Given the description of an element on the screen output the (x, y) to click on. 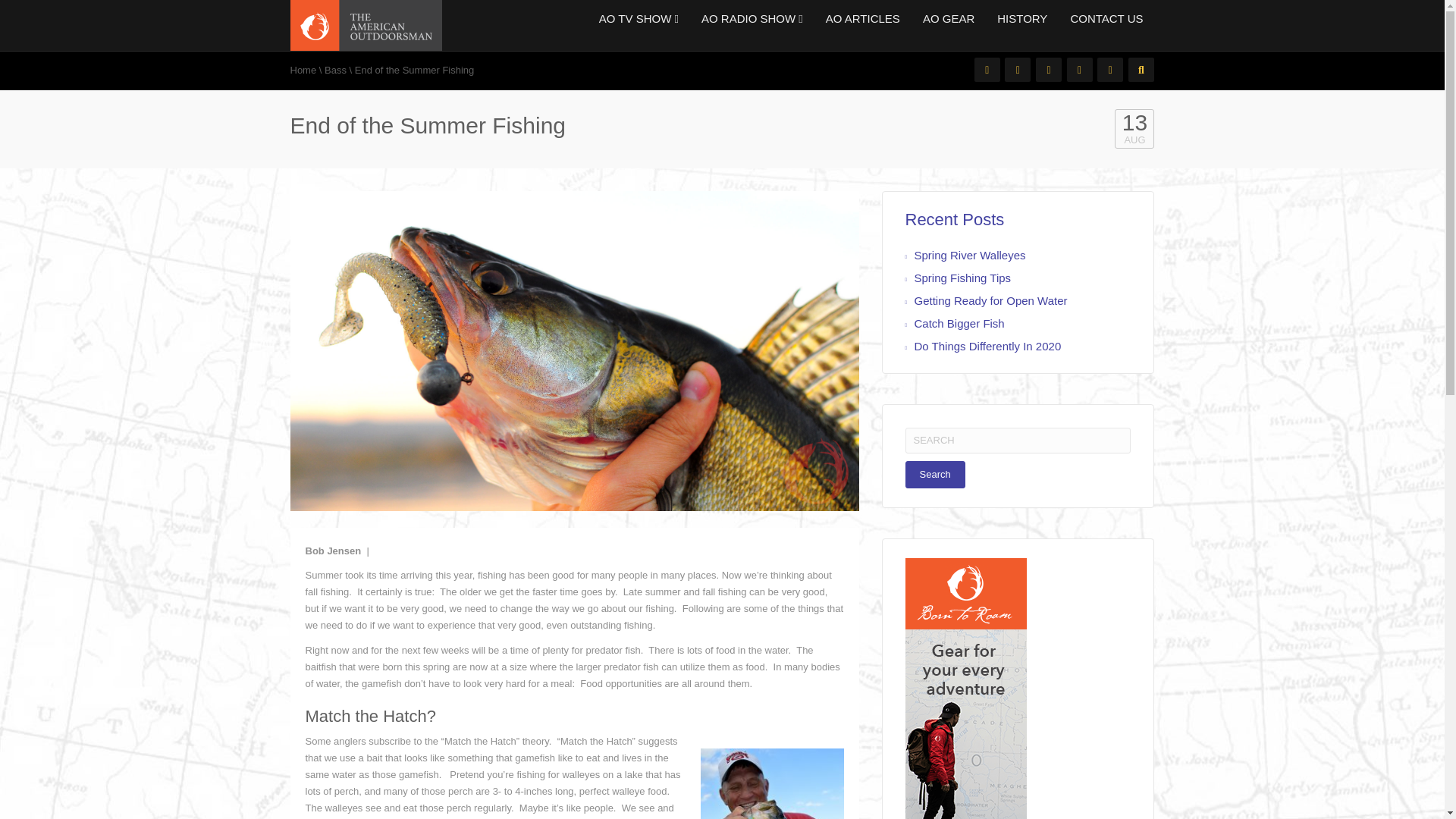
AO RADIO SHOW (751, 18)
Bass (335, 70)
AO GEAR (948, 18)
Home (302, 70)
CONTACT US (1100, 18)
HISTORY (1021, 18)
End of the Summer Fishing - The American Outdoorsman (365, 24)
AO ARTICLES (862, 18)
AO TV SHOW (639, 18)
Search (935, 474)
